Given the description of an element on the screen output the (x, y) to click on. 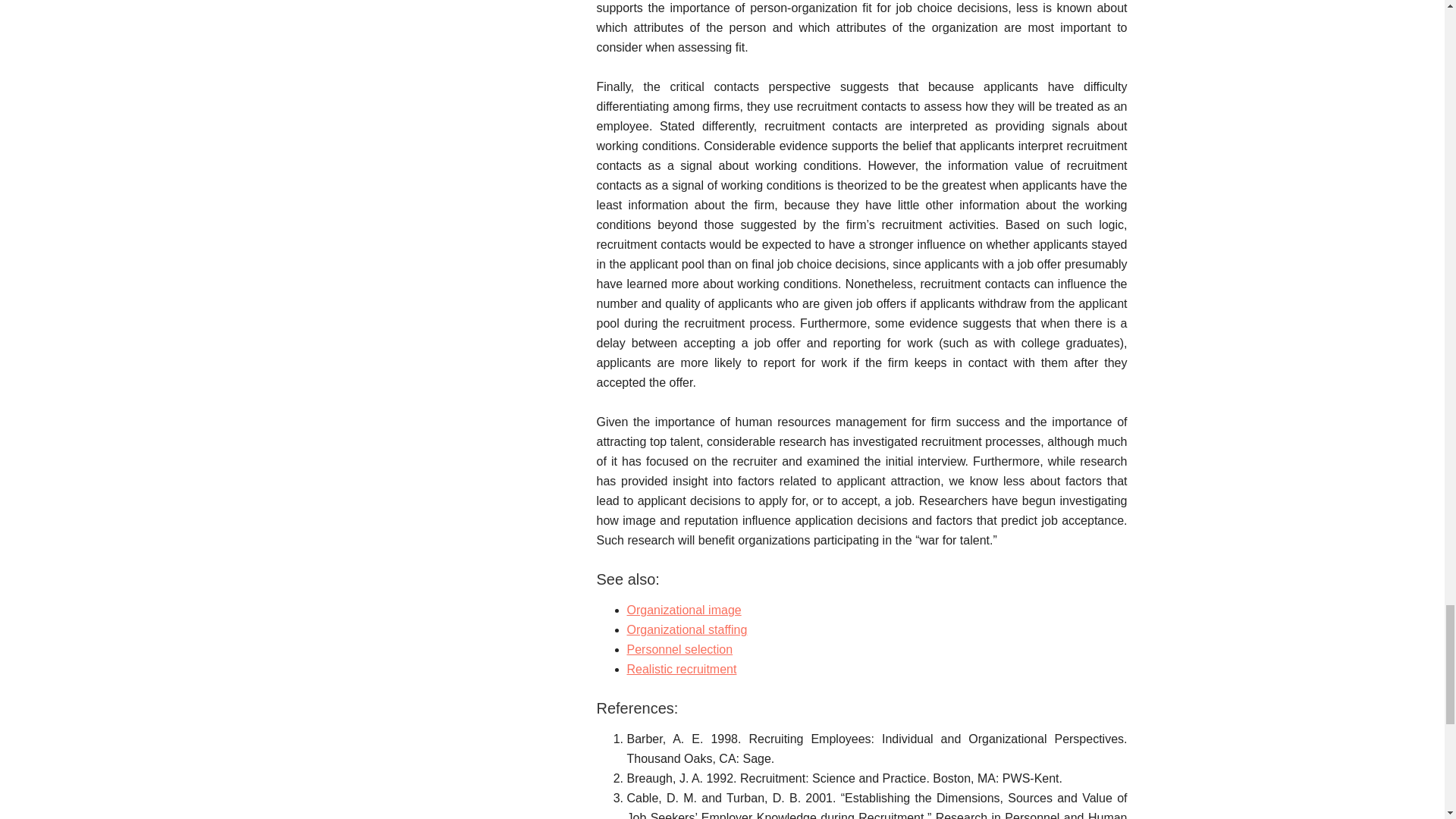
Organizational image (683, 609)
Realistic recruitment (681, 668)
Organizational staffing (686, 629)
Personnel selection (679, 649)
